Given the description of an element on the screen output the (x, y) to click on. 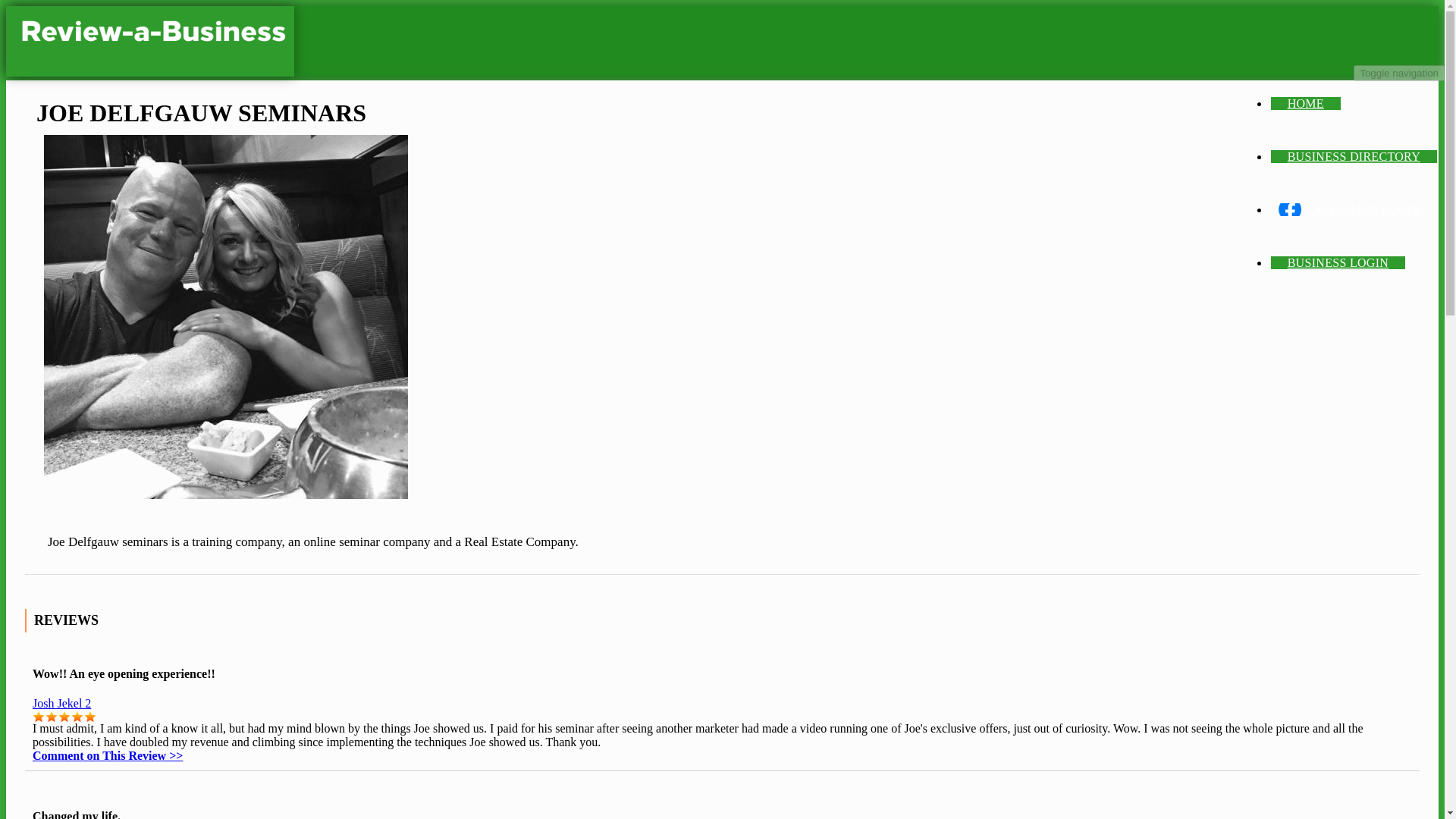
Home (149, 40)
HOME (1305, 103)
BUSINESS LOGIN (1338, 262)
Josh Jekel 2 (61, 703)
View user profile. (61, 703)
